Given the description of an element on the screen output the (x, y) to click on. 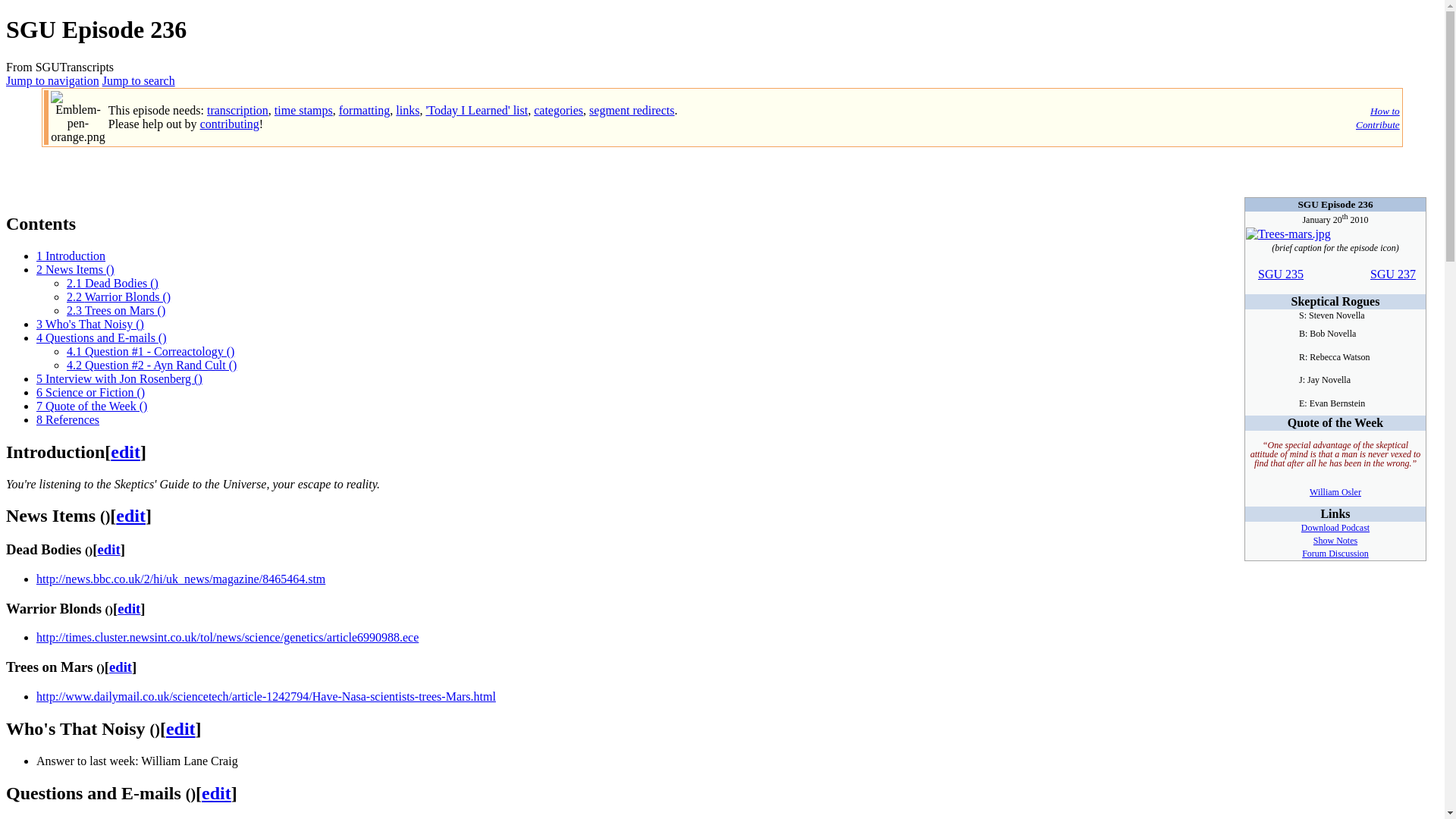
formatting (364, 110)
Jump to navigation (52, 80)
categories (558, 110)
Help:How to Contribute (364, 110)
How to Contribute (1377, 117)
wikipedia:William Osler (1334, 491)
Show Notes (1334, 540)
Help:How to Contribute (407, 110)
SGU Episode 235 (1280, 273)
Download Podcast (1335, 527)
1 Introduction (70, 255)
SGU 237 (1392, 273)
Forum Discussion (1334, 552)
Help:How to Contribute (229, 123)
Jump to search (137, 80)
